Given the description of an element on the screen output the (x, y) to click on. 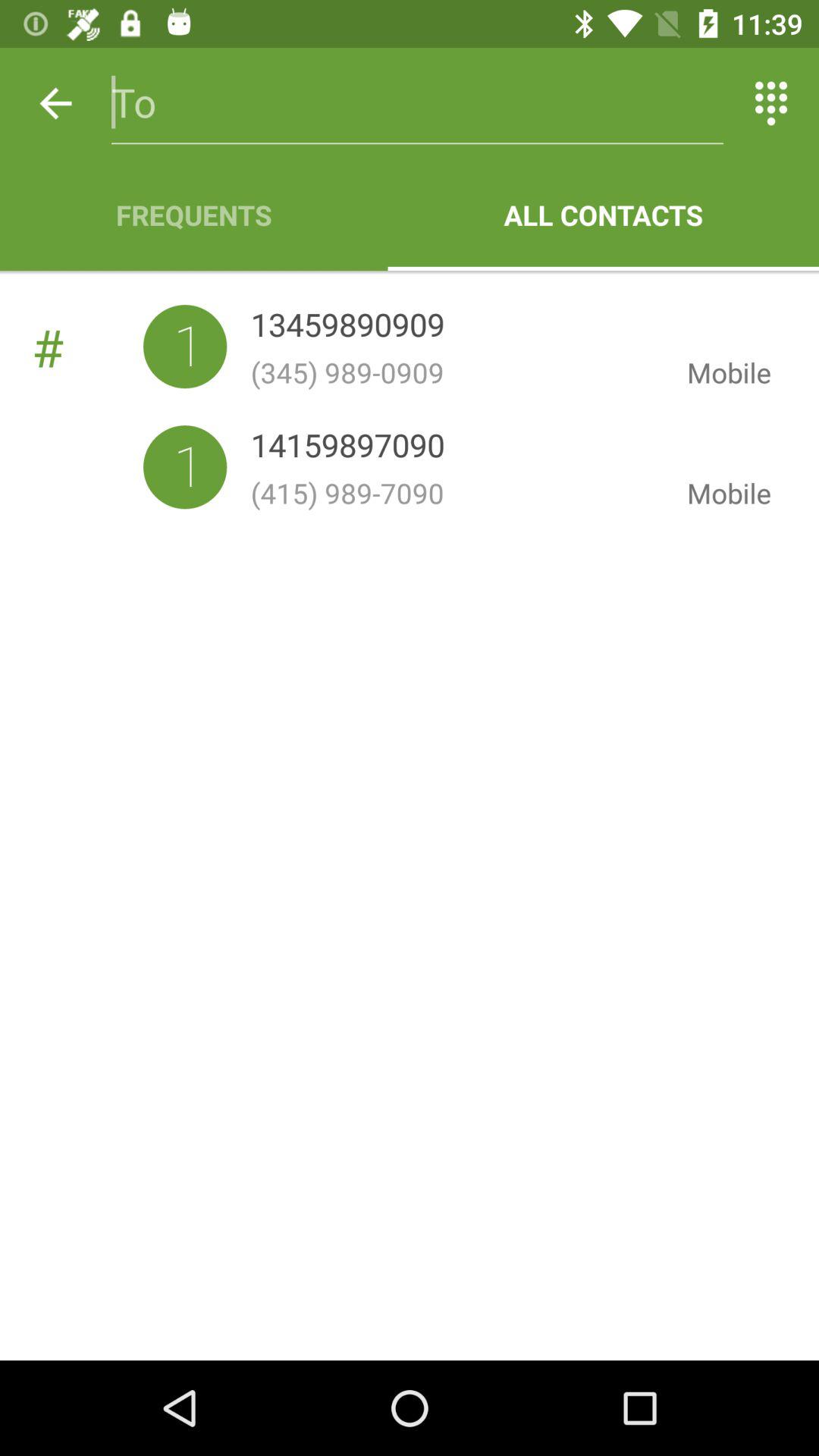
select item to the left of mobile (347, 327)
